Given the description of an element on the screen output the (x, y) to click on. 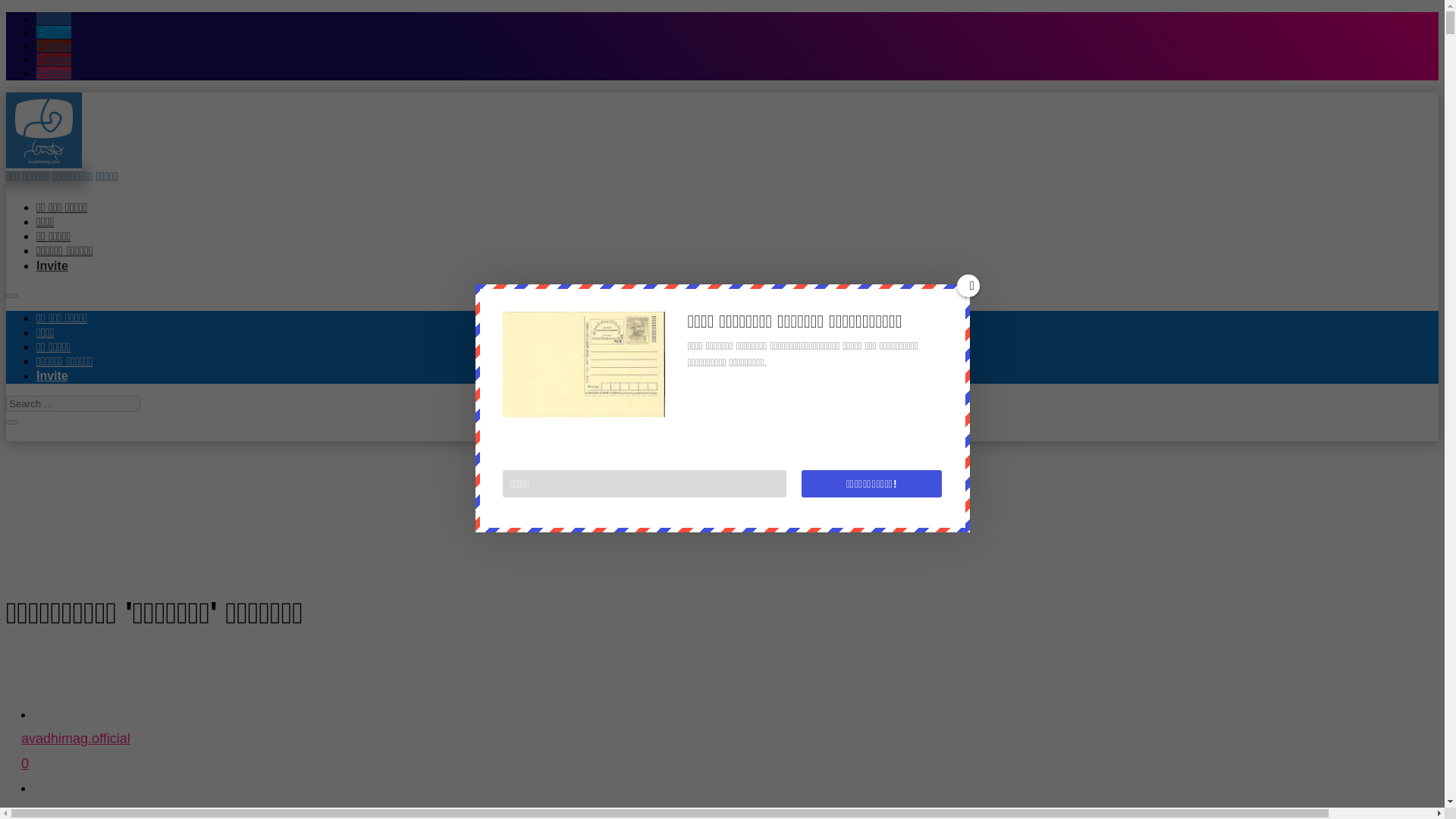
Follow on Instagram (53, 72)
Search for: (72, 403)
Avadhi Logo Final (729, 760)
Follow (43, 130)
Follow (53, 59)
Invite (729, 809)
Follow on Pinterest (53, 45)
Follow (52, 265)
Follow (53, 59)
Invite (53, 72)
Follow on Facebook (53, 31)
Follow on Youtube (52, 375)
Follow (53, 18)
